Given the description of an element on the screen output the (x, y) to click on. 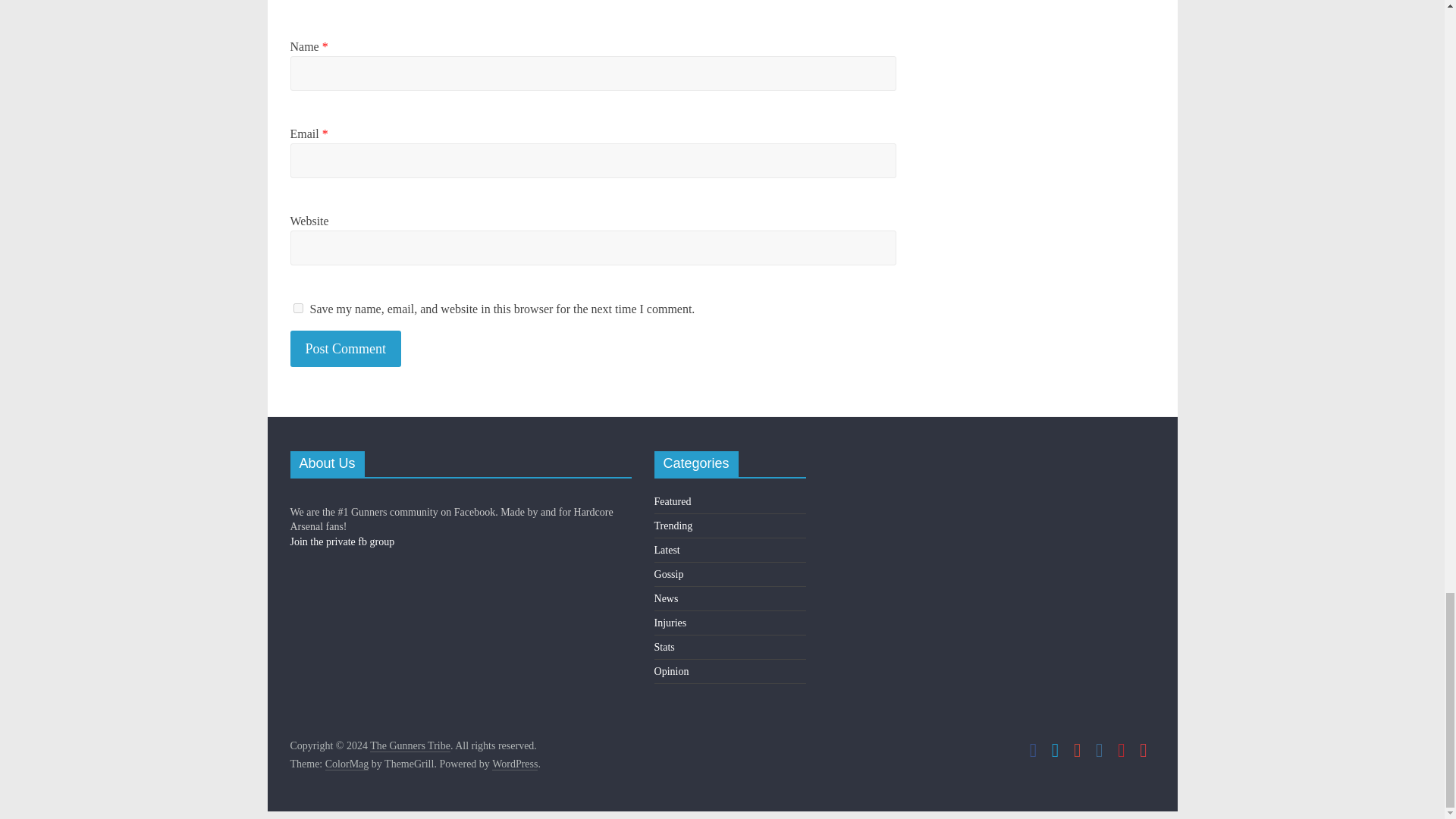
Post Comment (345, 348)
yes (297, 307)
